Given the description of an element on the screen output the (x, y) to click on. 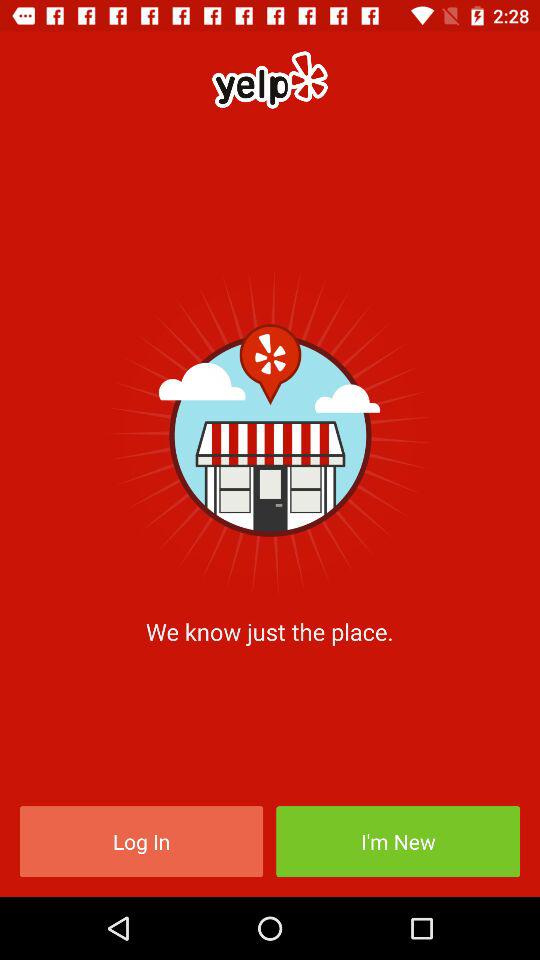
turn off the log in item (141, 841)
